Given the description of an element on the screen output the (x, y) to click on. 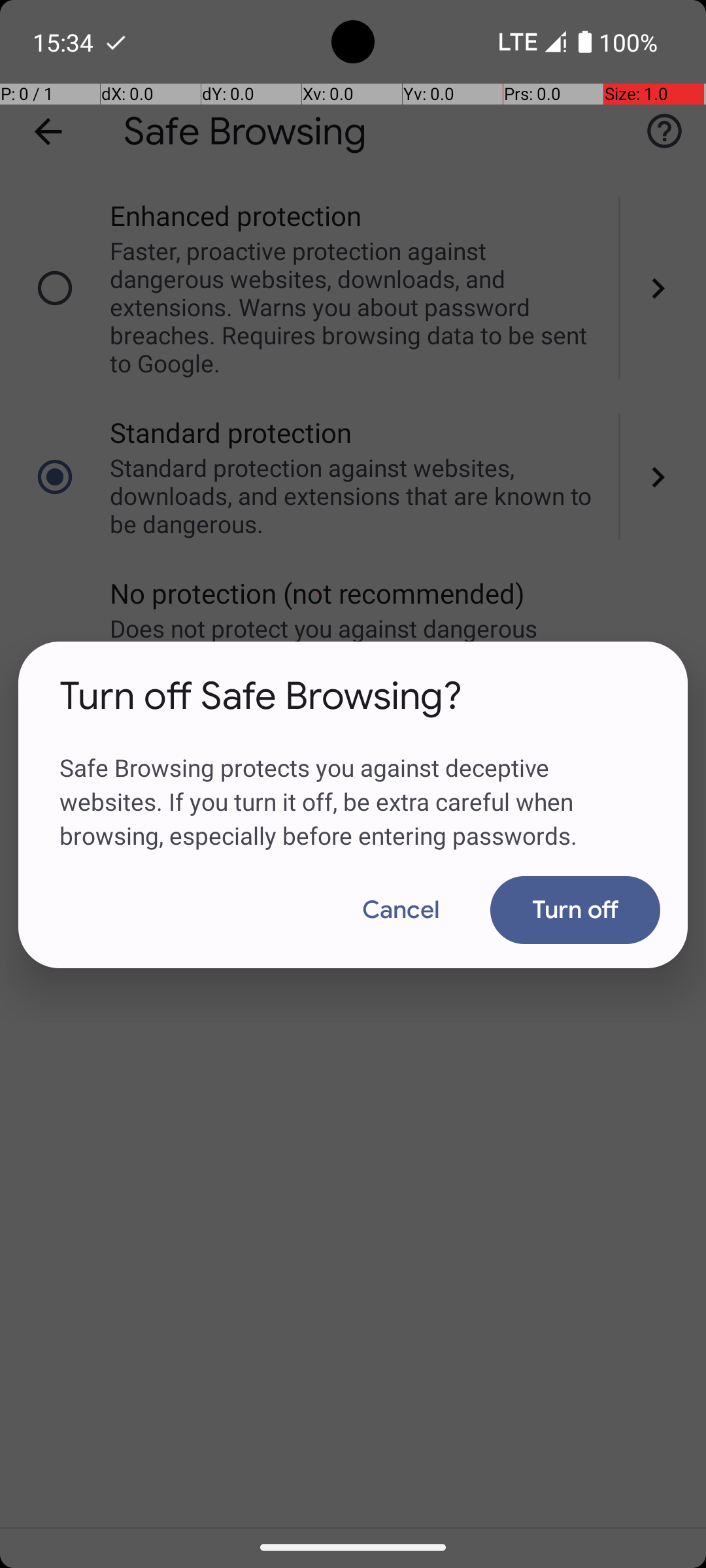
Turn off Safe Browsing? Element type: android.widget.TextView (260, 695)
Safe Browsing protects you against deceptive websites. If you turn it off, be extra careful when browsing, especially before entering passwords. Element type: android.widget.TextView (352, 785)
Turn off Element type: android.widget.Button (575, 909)
